Given the description of an element on the screen output the (x, y) to click on. 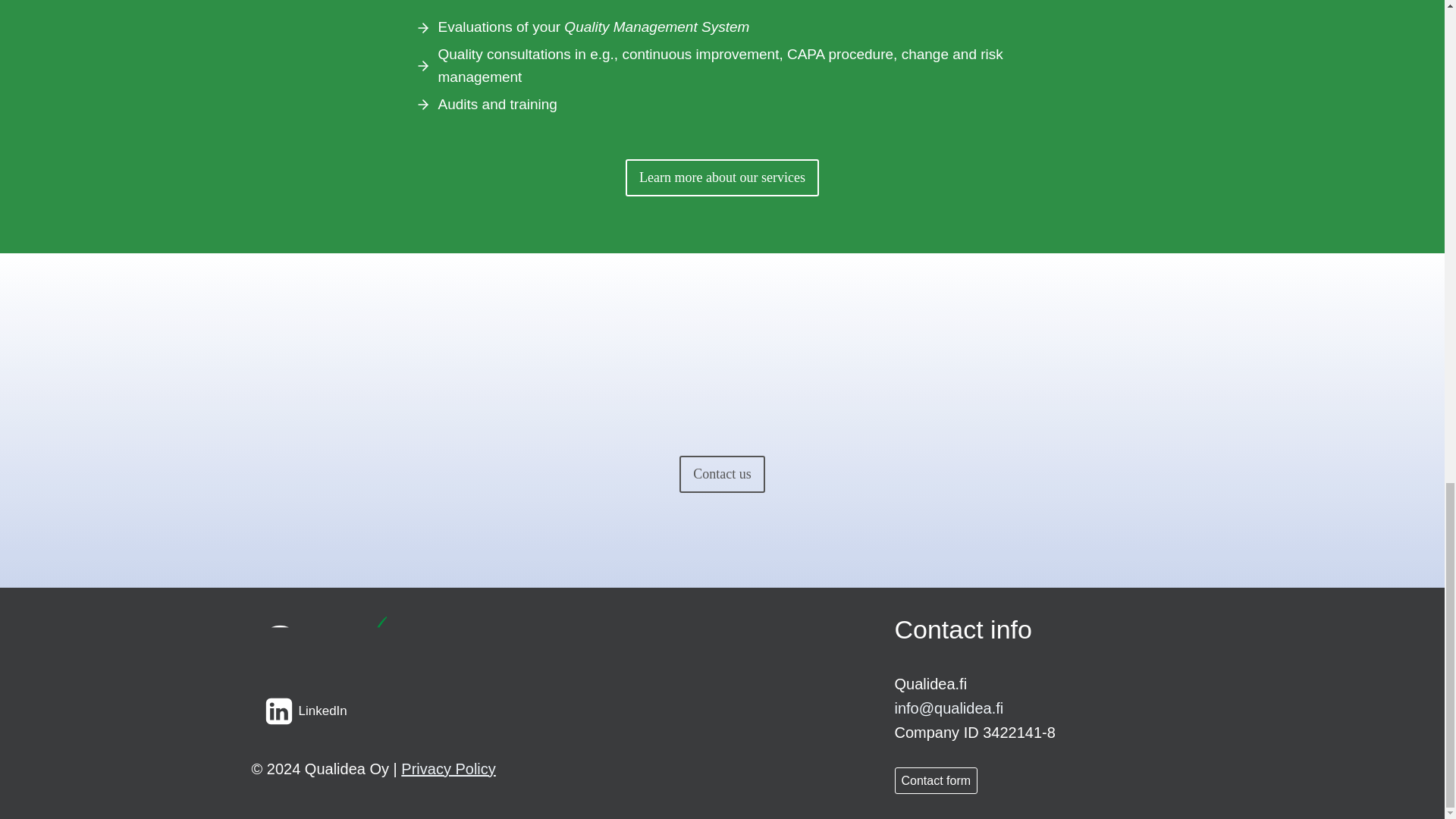
Learn more about our services (722, 177)
Contact us (722, 474)
Privacy Policy (448, 768)
Contact form (936, 780)
LinkedIn (305, 711)
